Given the description of an element on the screen output the (x, y) to click on. 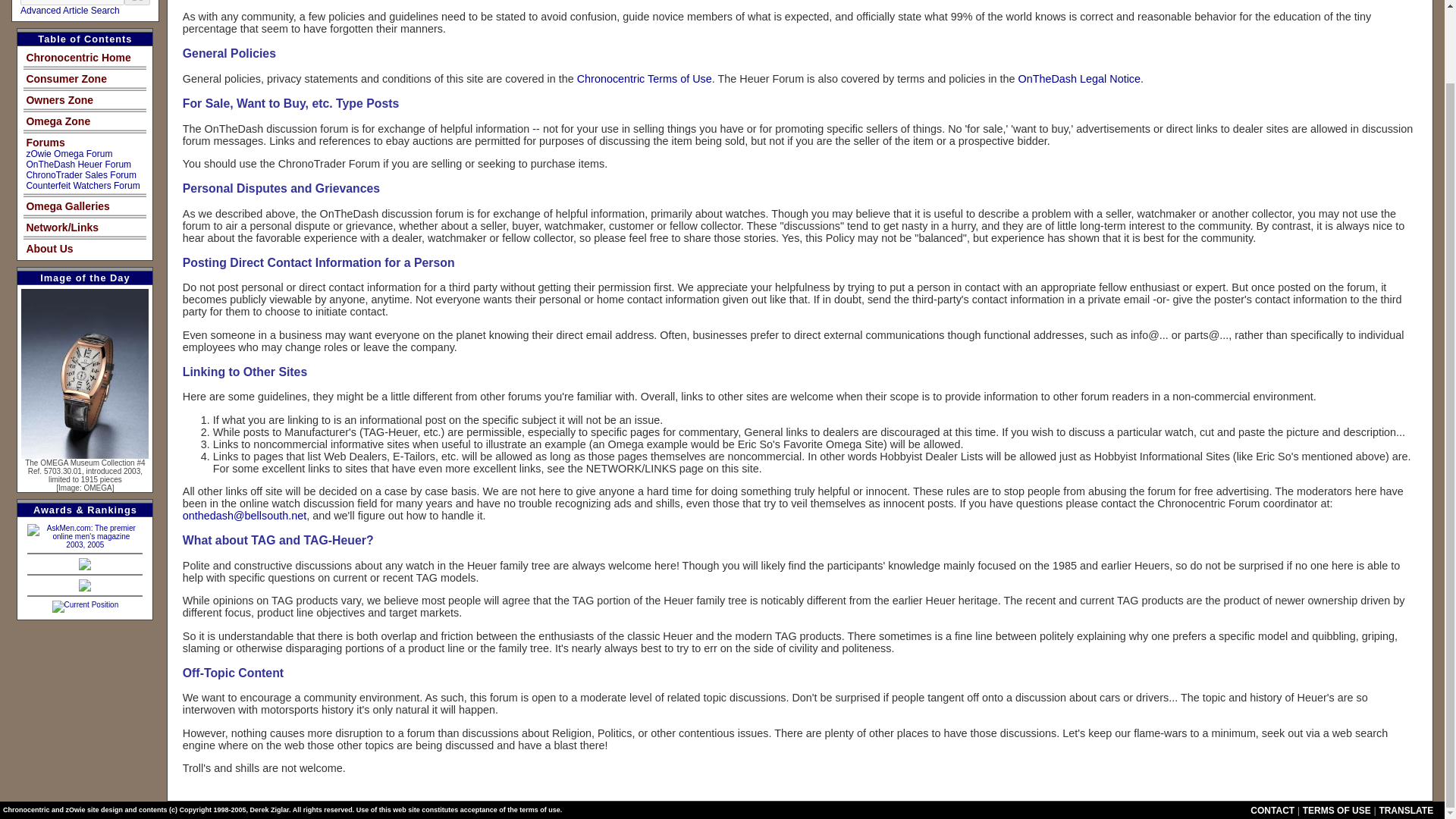
Go (136, 2)
TRANSLATE (1405, 810)
TERMS OF USE (1337, 810)
Advanced Article Search (69, 9)
Chronocentric Home (78, 57)
zOwie Omega Forum (69, 153)
2003, 2005 (84, 540)
OnTheDash Legal Notice (1078, 78)
ChronoTrader Sales Forum (81, 174)
OnTheDash Heuer Forum (78, 163)
About Us (49, 248)
Forums (45, 142)
Omega Galleries (68, 205)
CONTACT (1272, 810)
Owners Zone (59, 100)
